Given the description of an element on the screen output the (x, y) to click on. 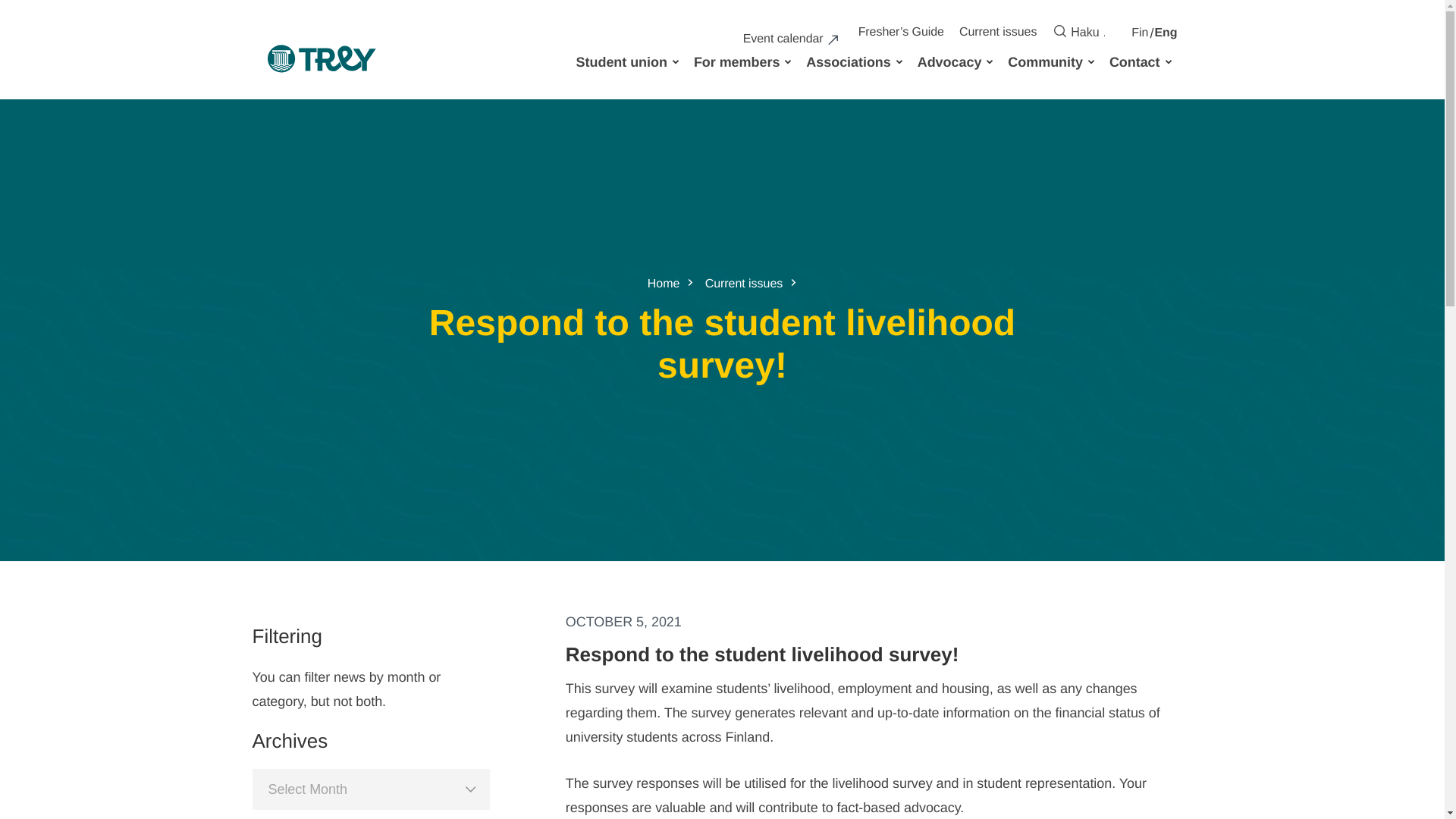
Eng (1165, 33)
Student union (622, 61)
Event calendar (791, 39)
Community (1046, 61)
Fin (1139, 33)
Current issues (1000, 32)
For members (737, 61)
Advocacy (950, 61)
Proceed TREY -etusivulle (320, 62)
Associations (848, 61)
